Given the description of an element on the screen output the (x, y) to click on. 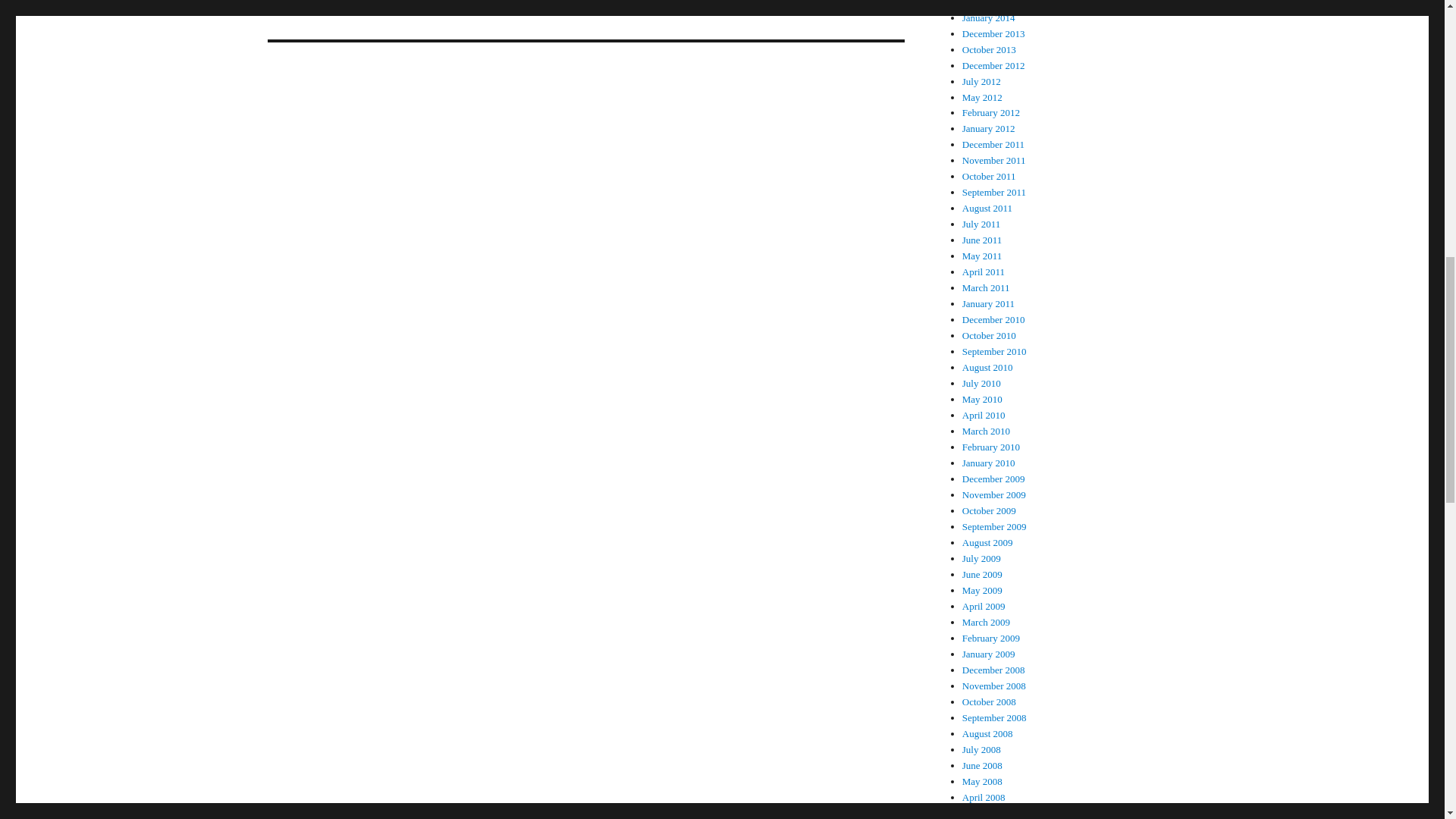
January 2012 (988, 128)
June 2011 (982, 239)
December 2012 (993, 65)
April 2014 (984, 3)
May 2012 (982, 96)
July 2012 (981, 81)
October 2013 (989, 49)
September 2011 (994, 192)
October 2011 (989, 175)
August 2011 (986, 207)
January 2014 (988, 17)
December 2011 (993, 143)
November 2011 (994, 160)
February 2012 (991, 112)
July 2011 (981, 224)
